Given the description of an element on the screen output the (x, y) to click on. 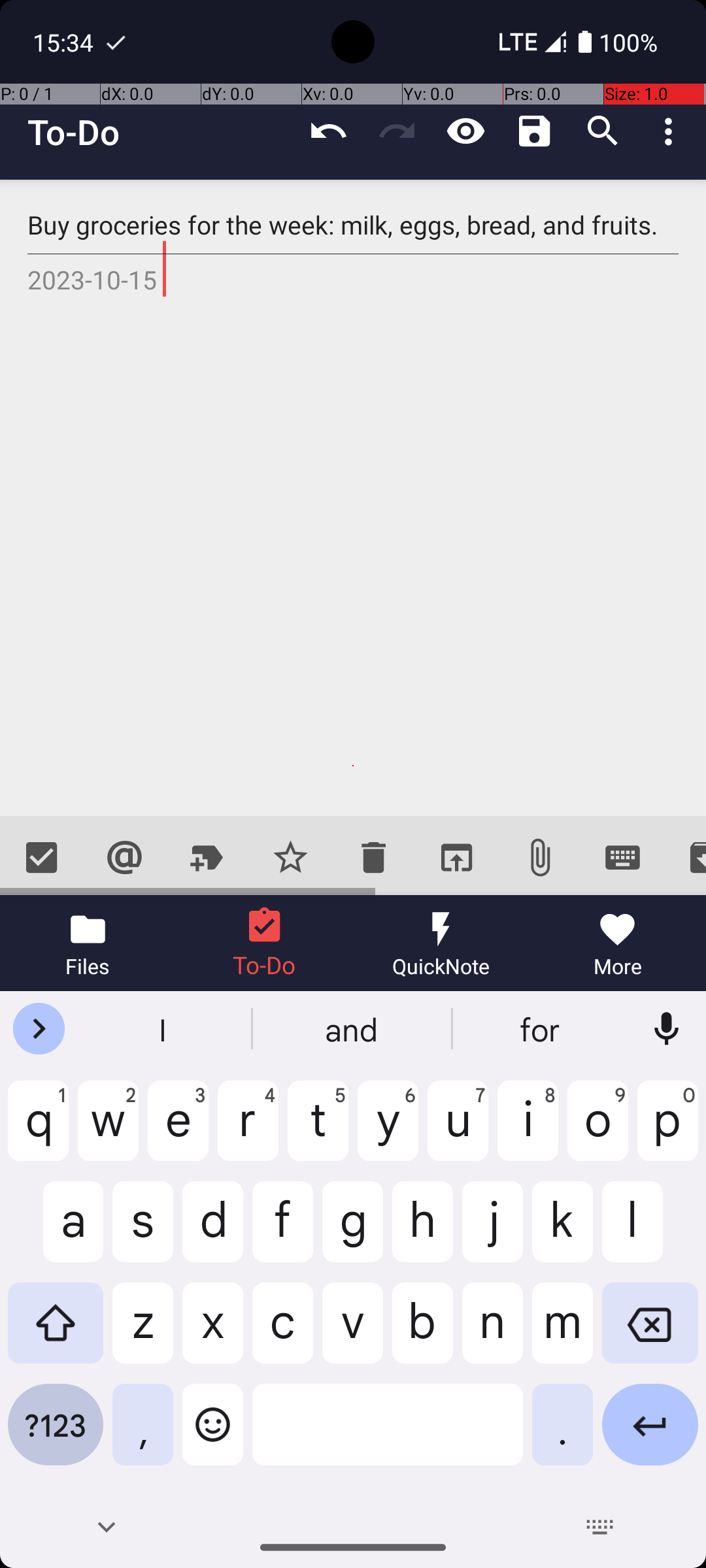
Buy groceries for the week: milk, eggs, bread, and fruits.
2023-10-15  Element type: android.widget.EditText (353, 497)
and Element type: android.widget.FrameLayout (352, 1028)
for Element type: android.widget.FrameLayout (541, 1028)
